Given the description of an element on the screen output the (x, y) to click on. 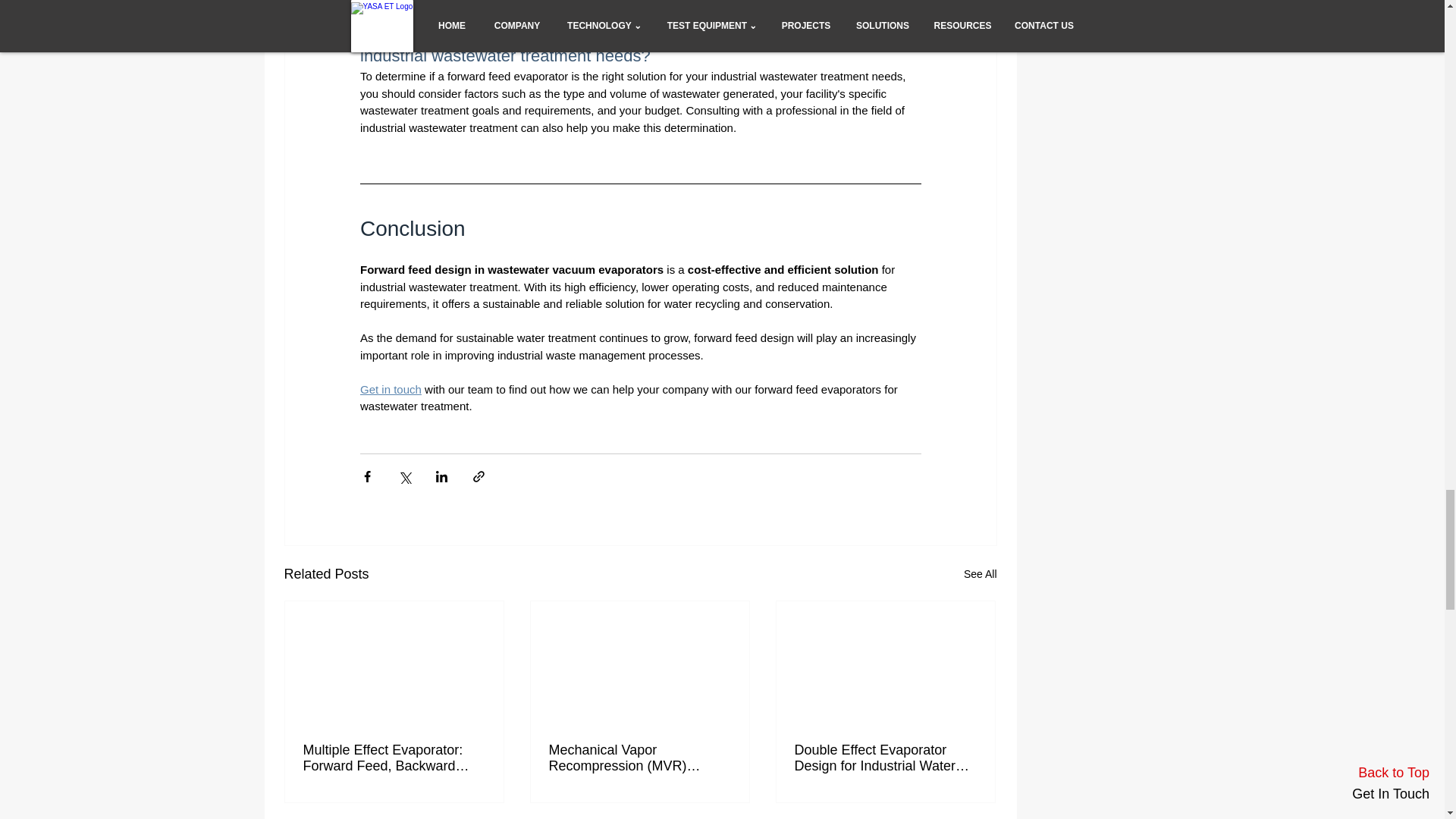
Get in touch (389, 389)
See All (980, 574)
